Given the description of an element on the screen output the (x, y) to click on. 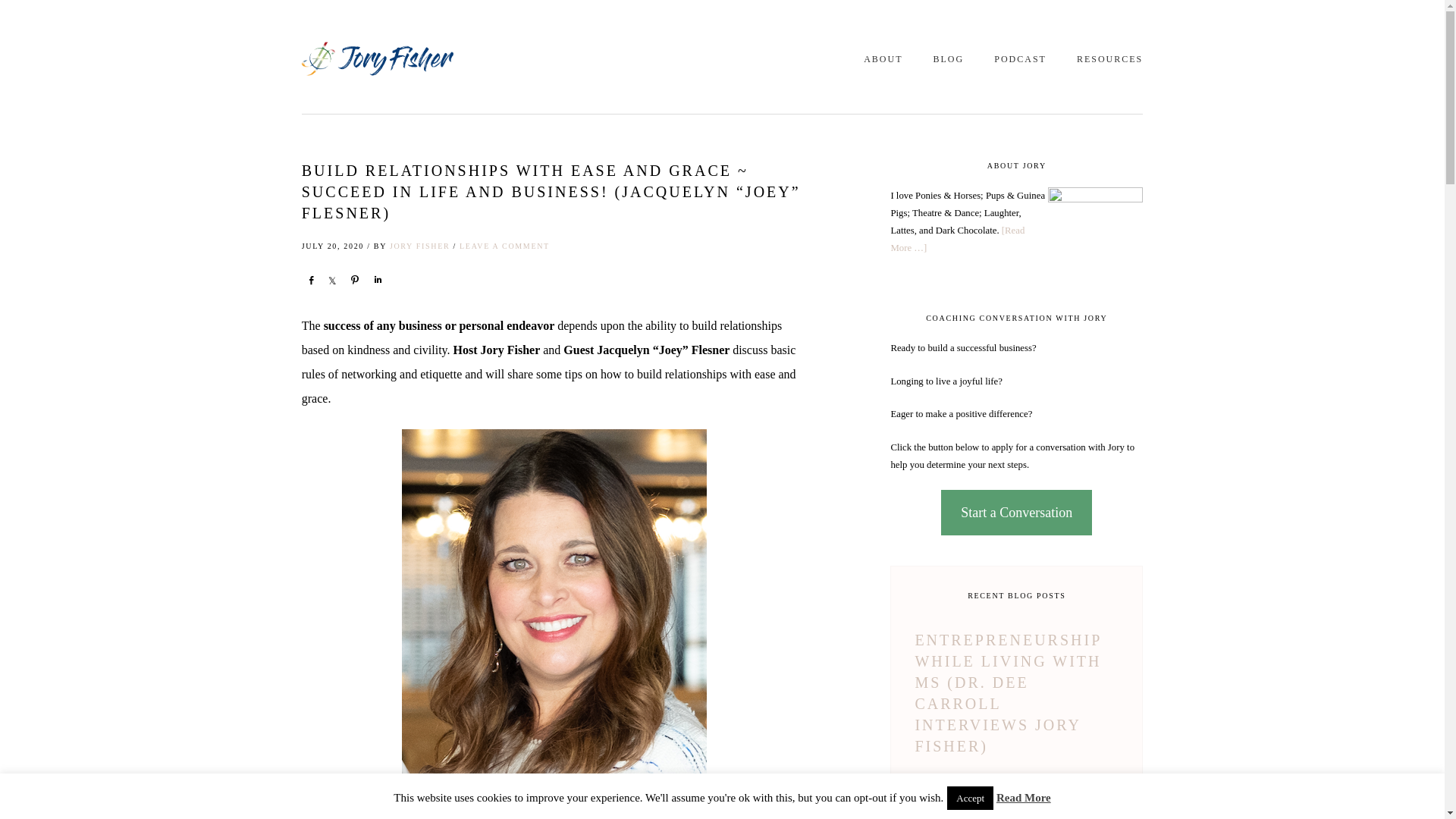
Pin (355, 279)
JORY FISHER (376, 58)
Share (310, 279)
LEAVE A COMMENT (505, 245)
BLOG (948, 57)
JORY FISHER (419, 245)
Share (332, 279)
Share (376, 279)
RESOURCES (1109, 57)
PODCAST (1020, 57)
ABOUT (882, 57)
